Given the description of an element on the screen output the (x, y) to click on. 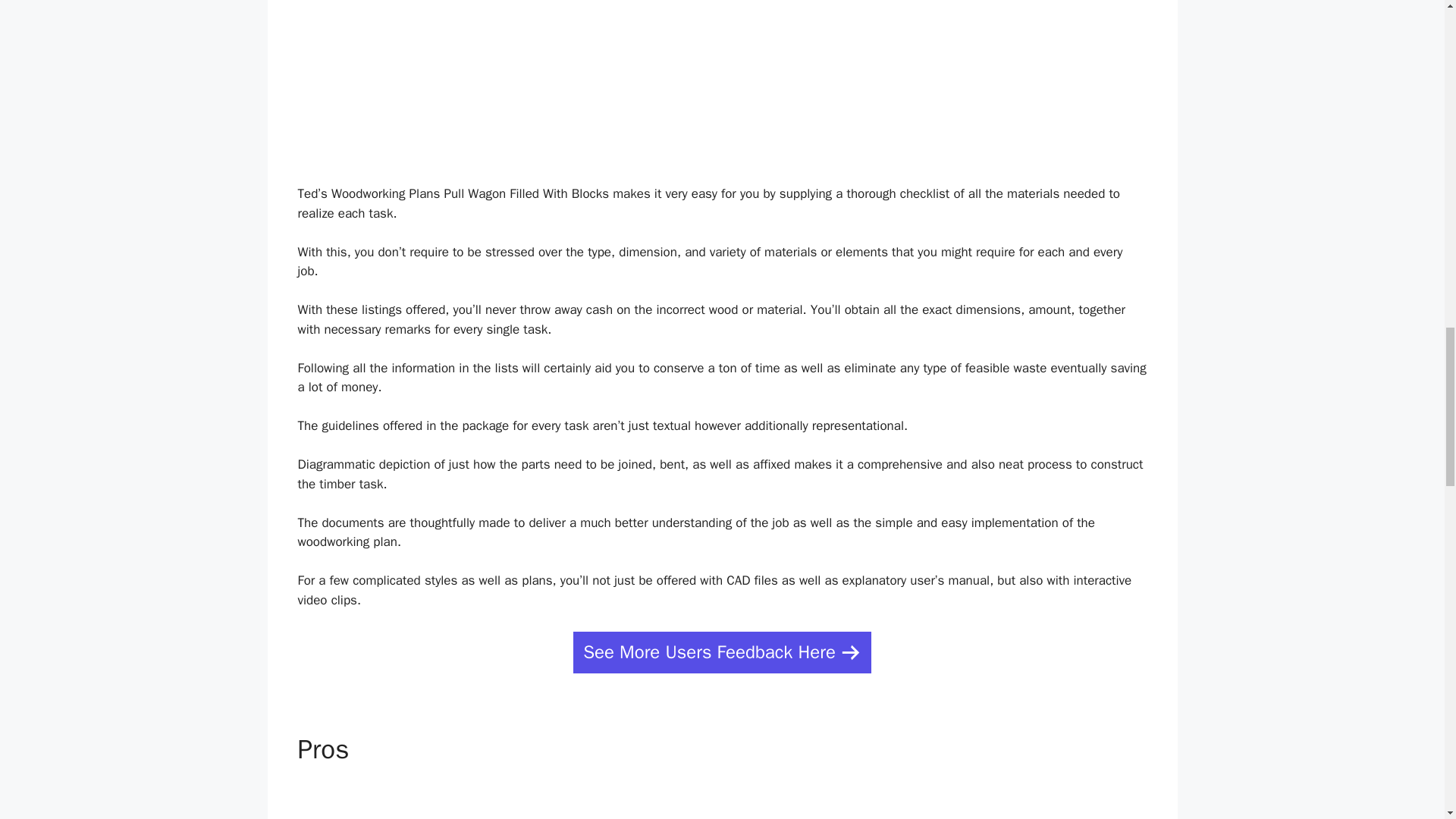
See More Users Feedback Here (721, 652)
